Given the description of an element on the screen output the (x, y) to click on. 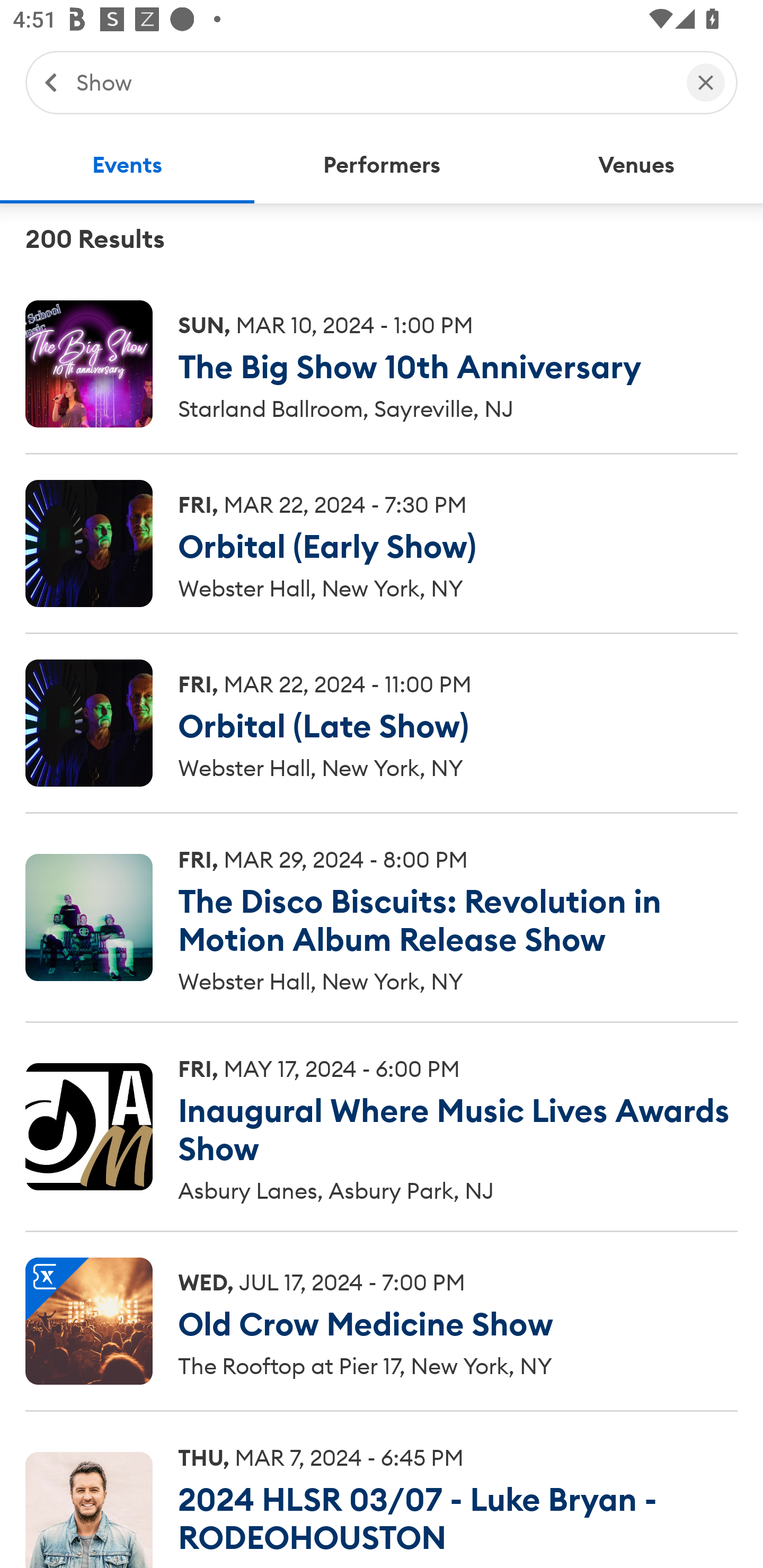
Show (371, 81)
Clear Search (705, 81)
Performers (381, 165)
Venues (635, 165)
